Given the description of an element on the screen output the (x, y) to click on. 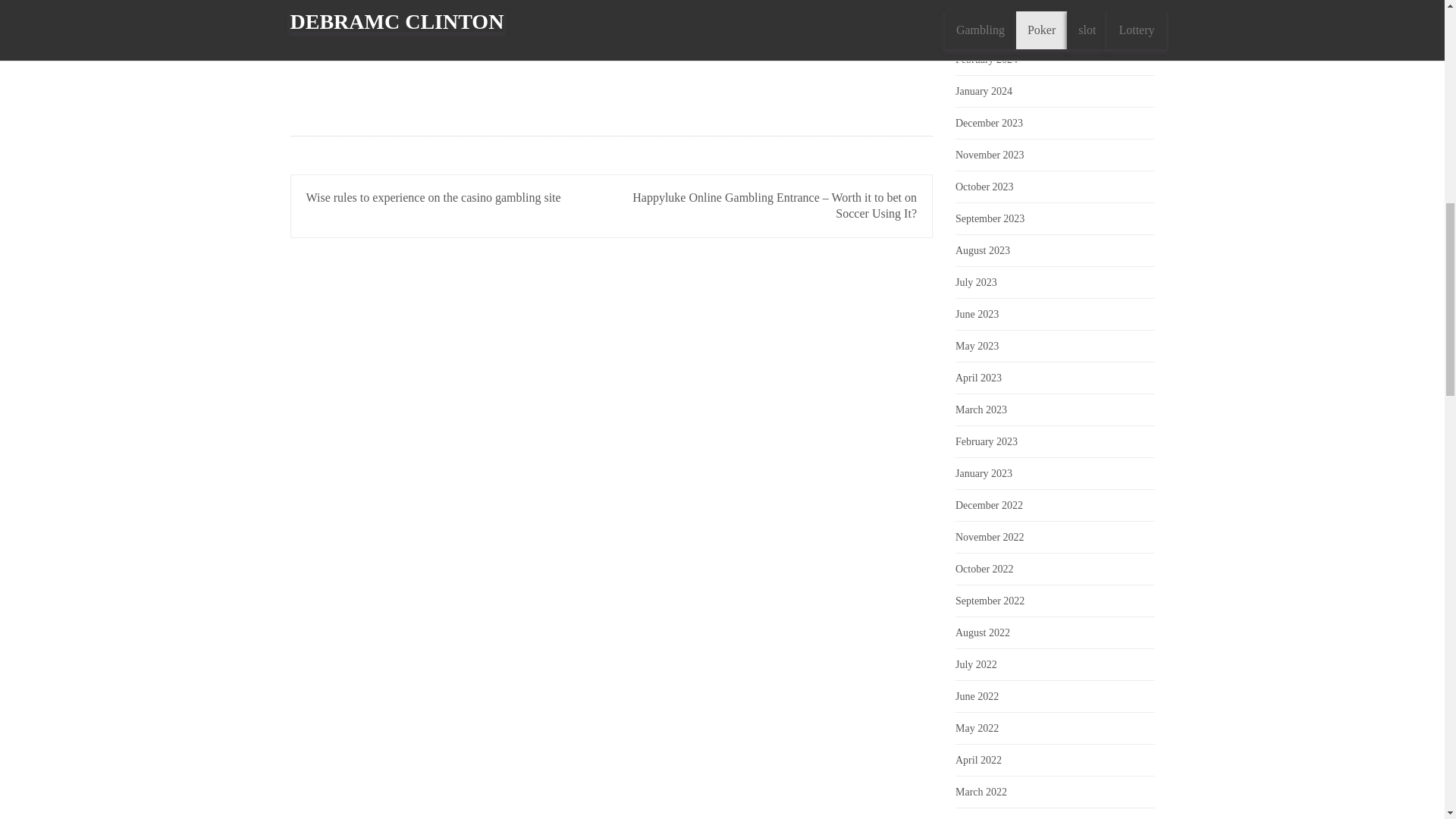
October 2023 (984, 186)
July 2023 (976, 282)
January 2023 (983, 473)
August 2023 (982, 250)
December 2022 (989, 505)
May 2023 (976, 346)
November 2023 (990, 154)
November 2022 (990, 536)
June 2023 (976, 314)
March 2024 (981, 27)
